Given the description of an element on the screen output the (x, y) to click on. 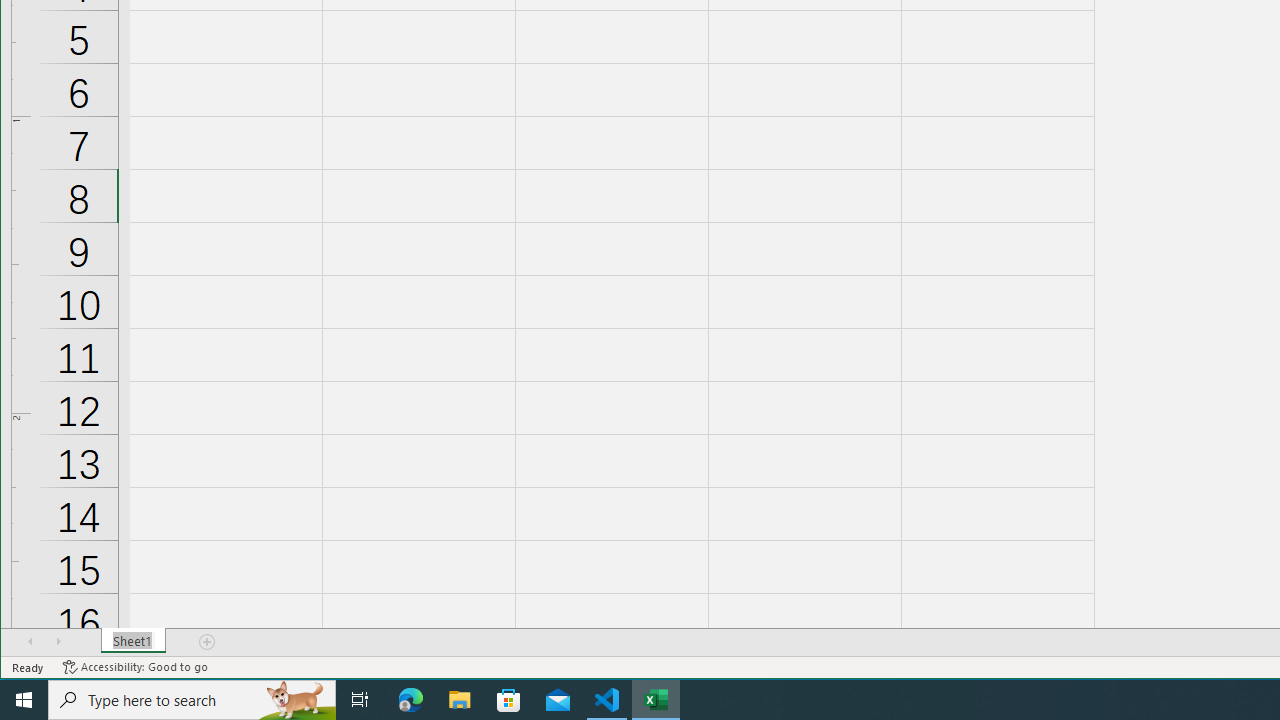
Start (24, 699)
